Given the description of an element on the screen output the (x, y) to click on. 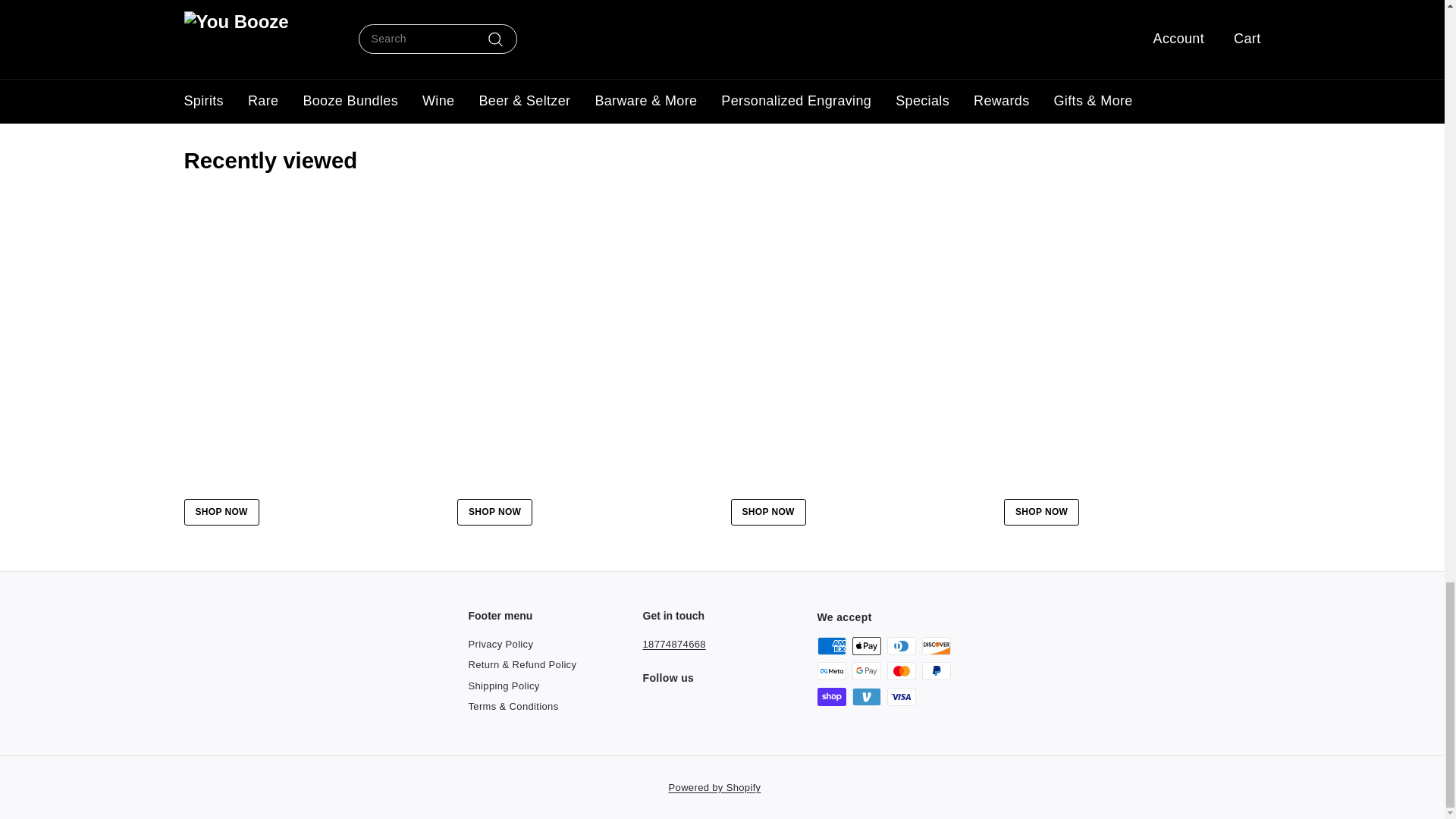
Mastercard (900, 670)
Meta Pay (830, 670)
Visa (900, 696)
American Express (830, 646)
Diners Club (900, 646)
Discover (935, 646)
Shop Pay (830, 696)
Google Pay (865, 670)
Apple Pay (865, 646)
PayPal (935, 670)
